Given the description of an element on the screen output the (x, y) to click on. 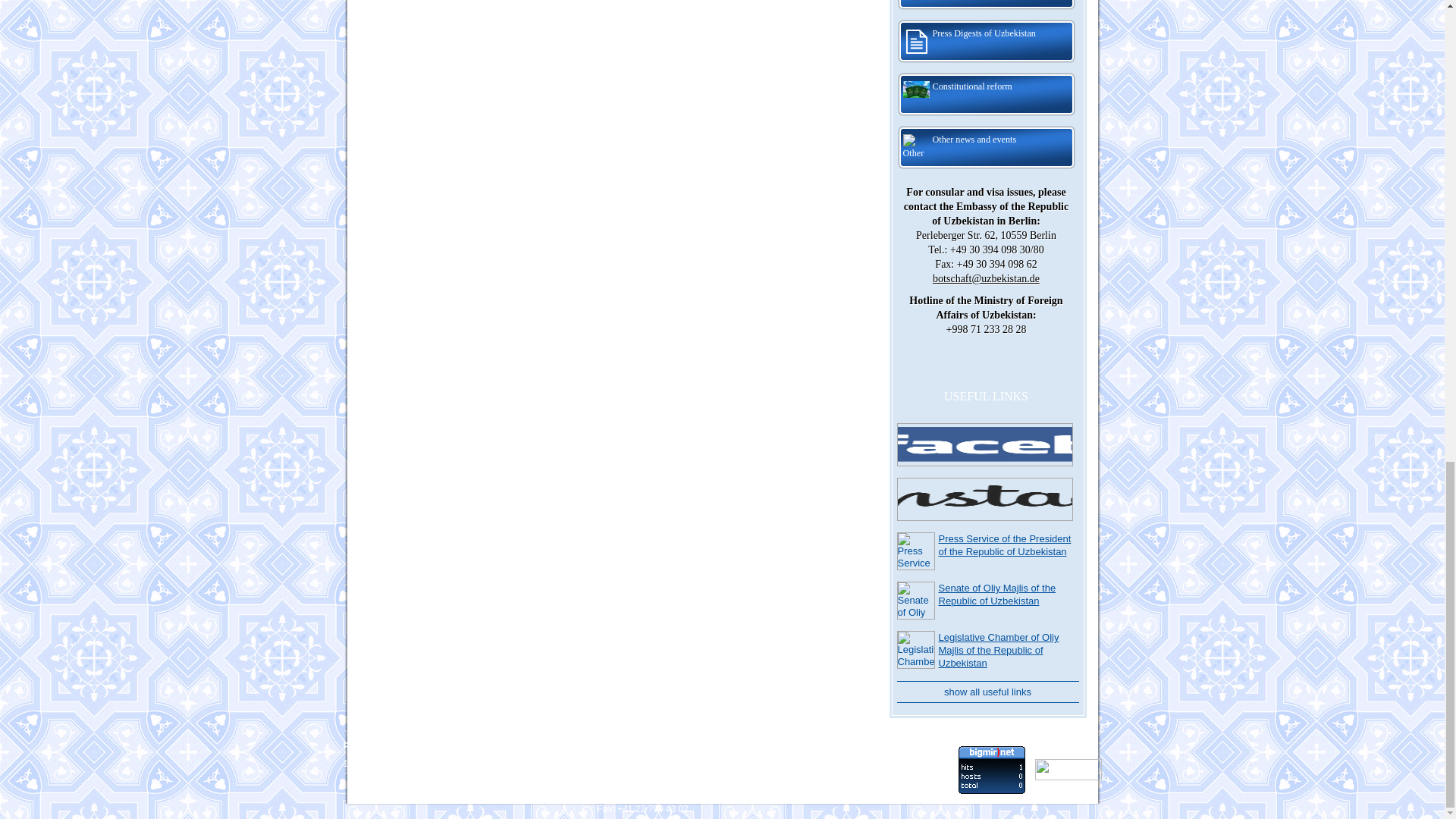
Constitutional reform (985, 94)
Other news and events (985, 147)
Press Service of the President of the Republic of Uzbekistan (1005, 545)
December 8 - Constitution Day of the Republic of Uzbekistan (985, 5)
Press Digests of Uzbekistan (985, 41)
